Given the description of an element on the screen output the (x, y) to click on. 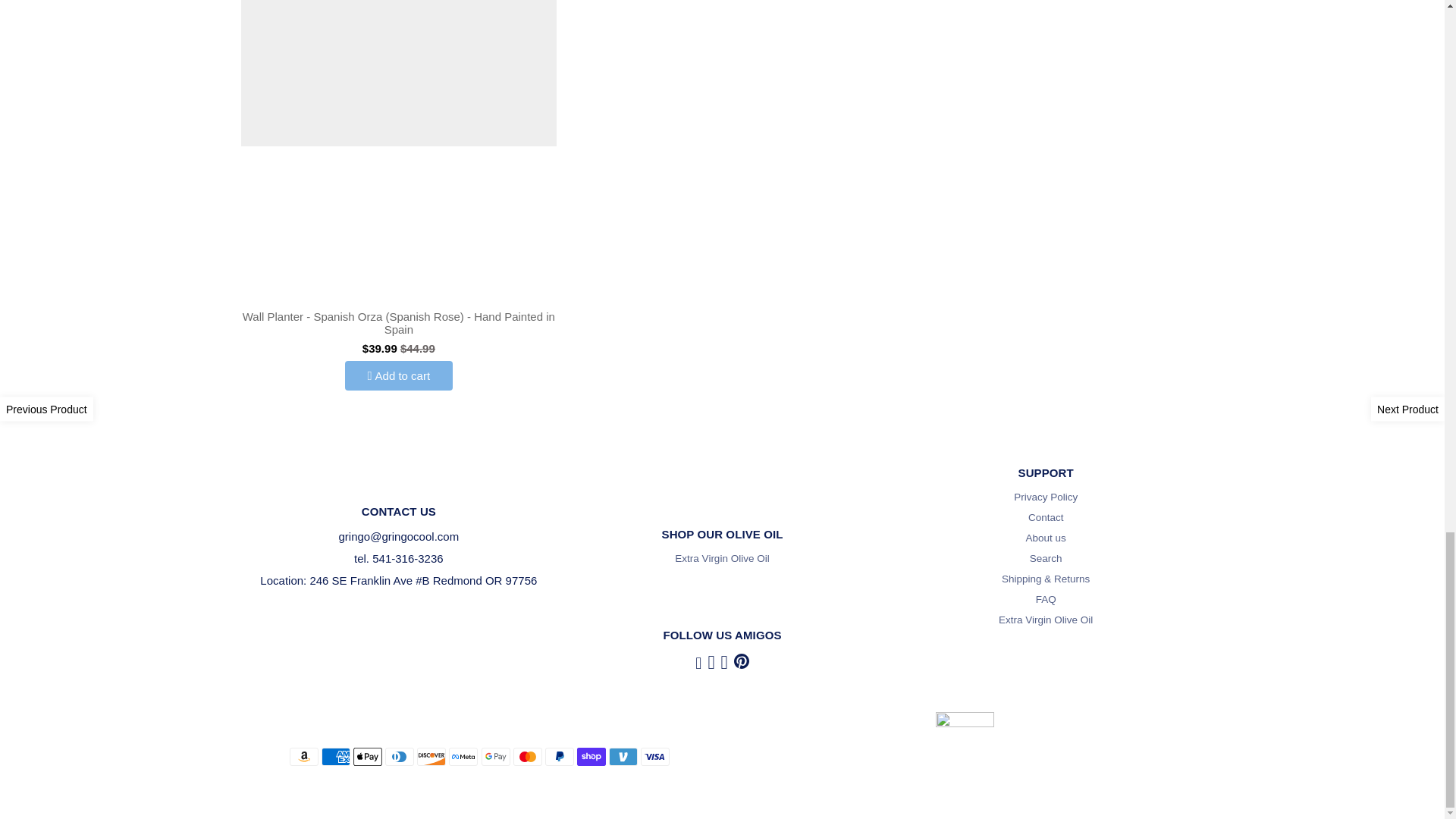
Meta Pay (462, 756)
Mastercard (527, 756)
Apple Pay (367, 756)
American Express (335, 756)
Google Pay (496, 756)
Shop Pay (590, 756)
PayPal (558, 756)
Diners Club (399, 756)
Venmo (622, 756)
Amazon (303, 756)
